Given the description of an element on the screen output the (x, y) to click on. 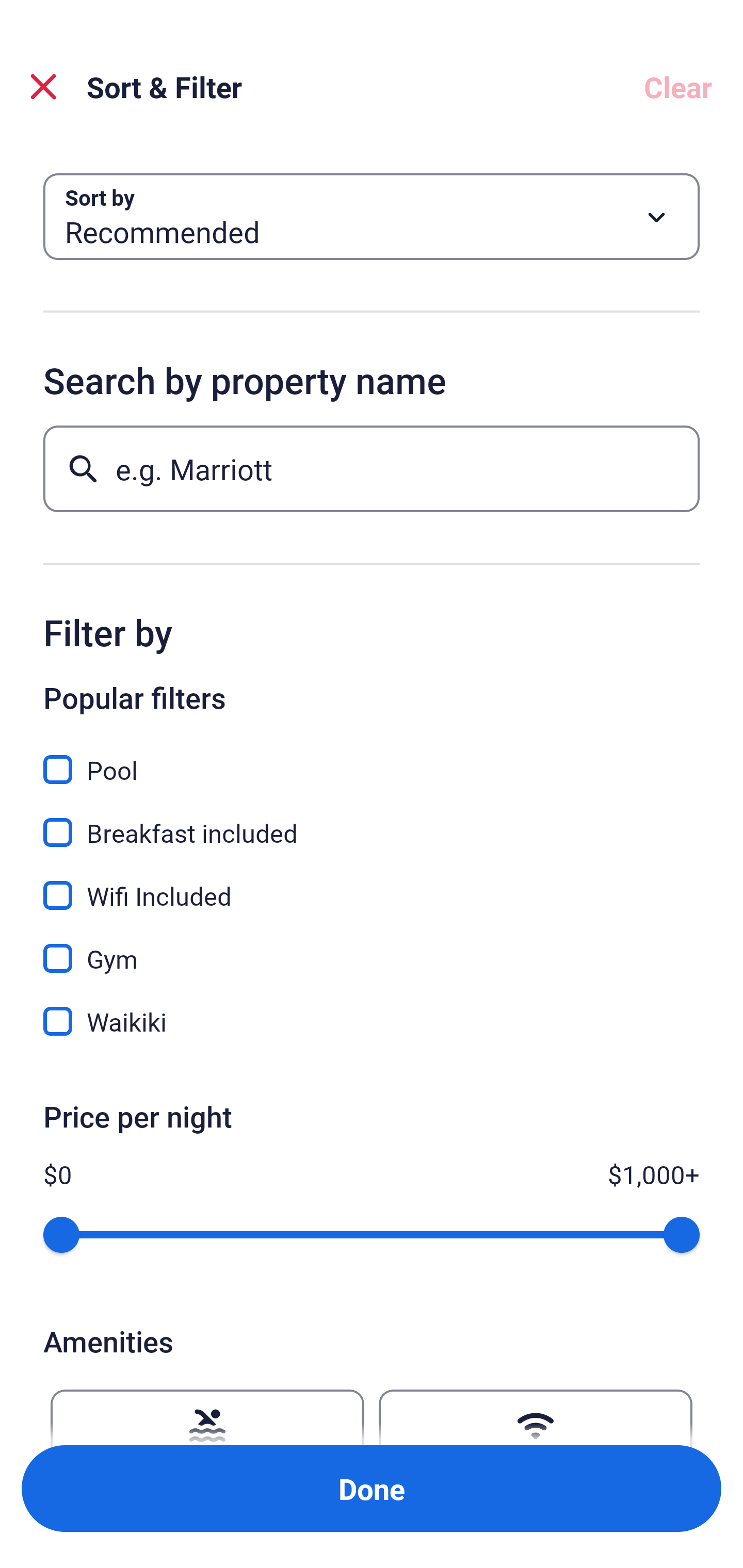
Close Sort and Filter (43, 86)
Clear (677, 86)
Sort by Button Recommended (371, 217)
e.g. Marriott Button (371, 468)
Pool, Pool (371, 757)
Breakfast included, Breakfast included (371, 821)
Wifi Included, Wifi Included (371, 883)
Gym, Gym (371, 946)
Waikiki, Waikiki (371, 1021)
Apply and close Sort and Filter Done (371, 1488)
